Given the description of an element on the screen output the (x, y) to click on. 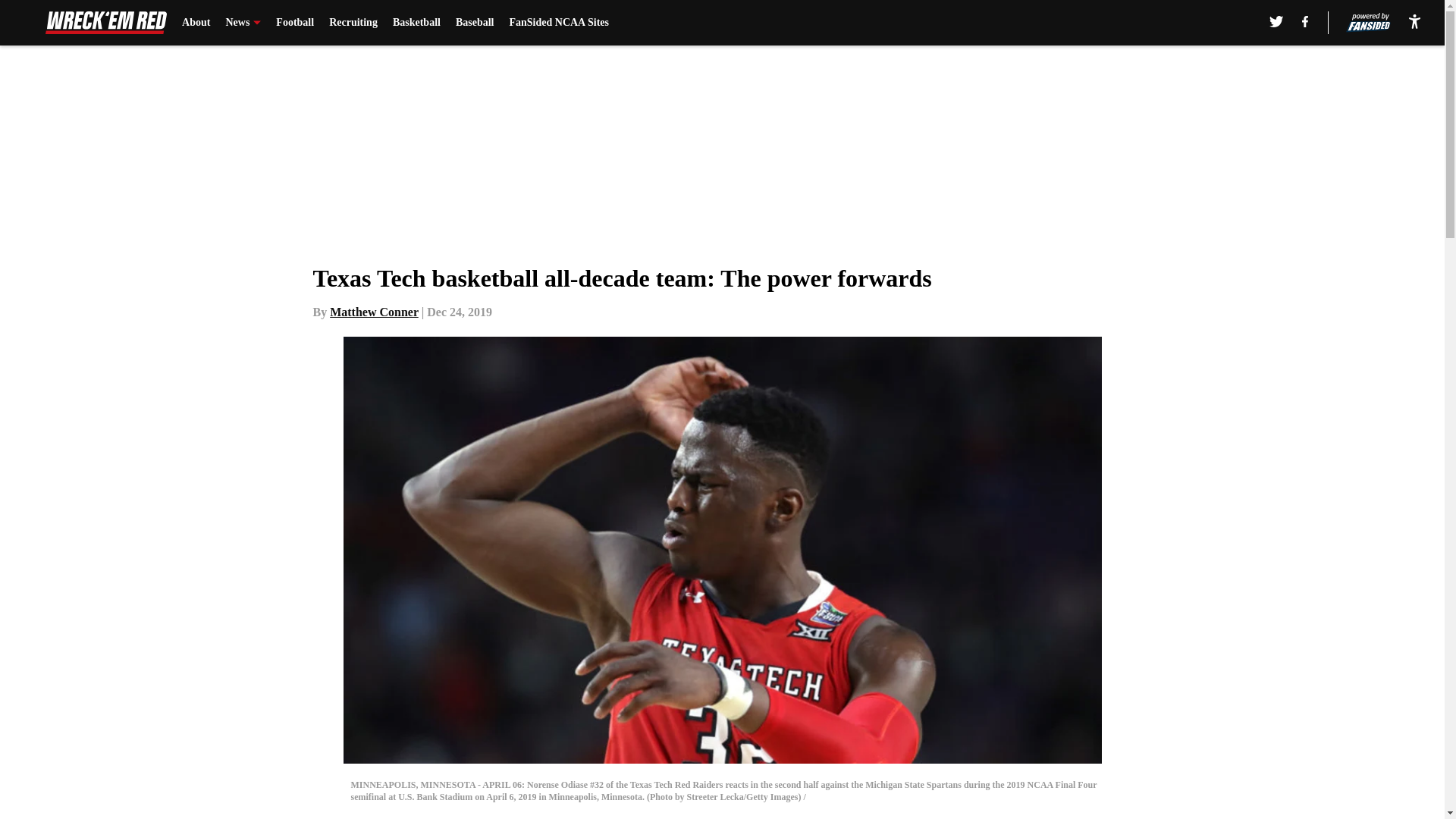
Football (295, 22)
Basketball (417, 22)
Baseball (475, 22)
Matthew Conner (374, 311)
FanSided NCAA Sites (558, 22)
Recruiting (353, 22)
About (195, 22)
